Given the description of an element on the screen output the (x, y) to click on. 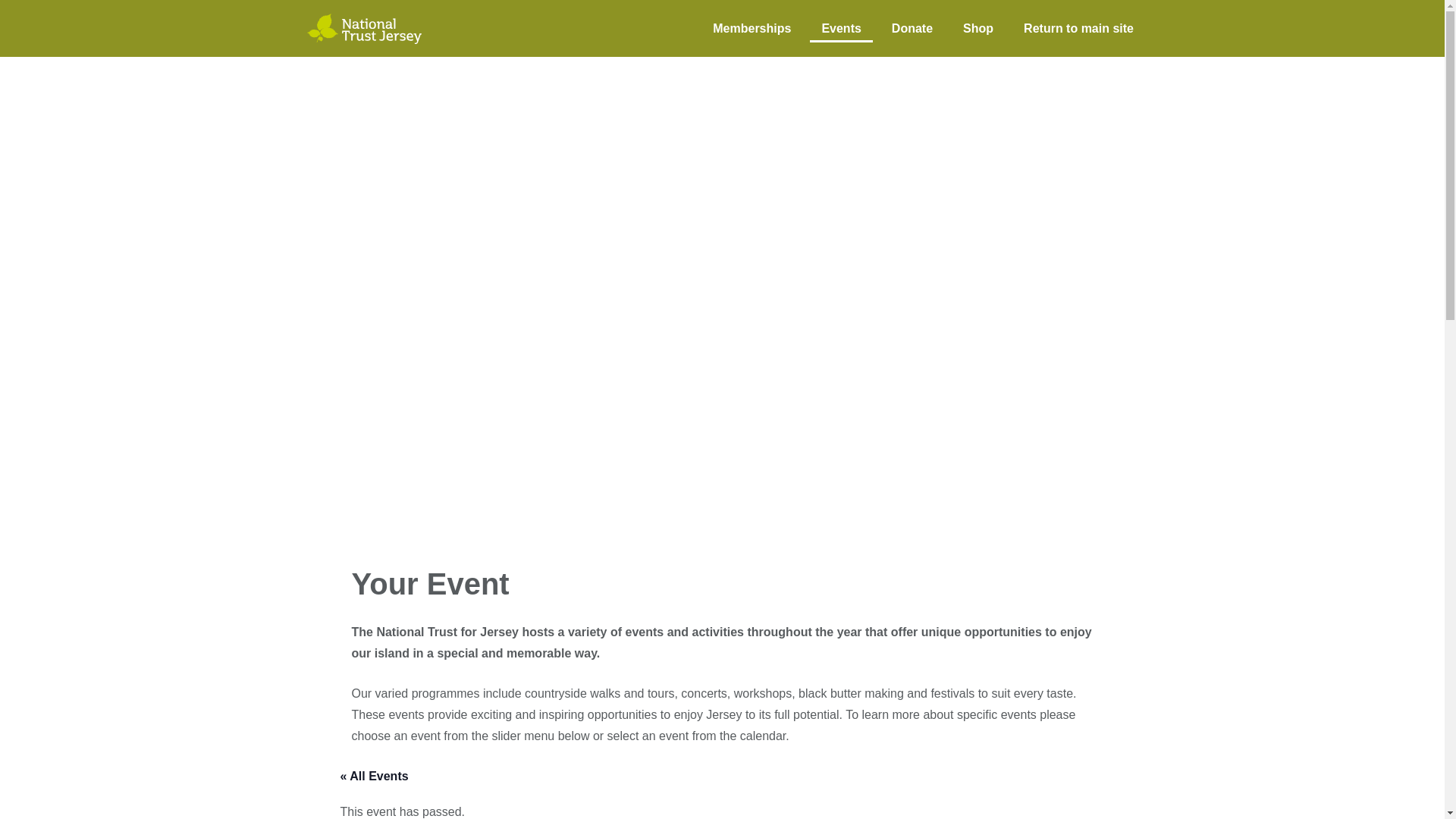
Shop (978, 27)
Donate (911, 27)
Events (840, 27)
Memberships (751, 27)
Return to main site (1077, 27)
